Given the description of an element on the screen output the (x, y) to click on. 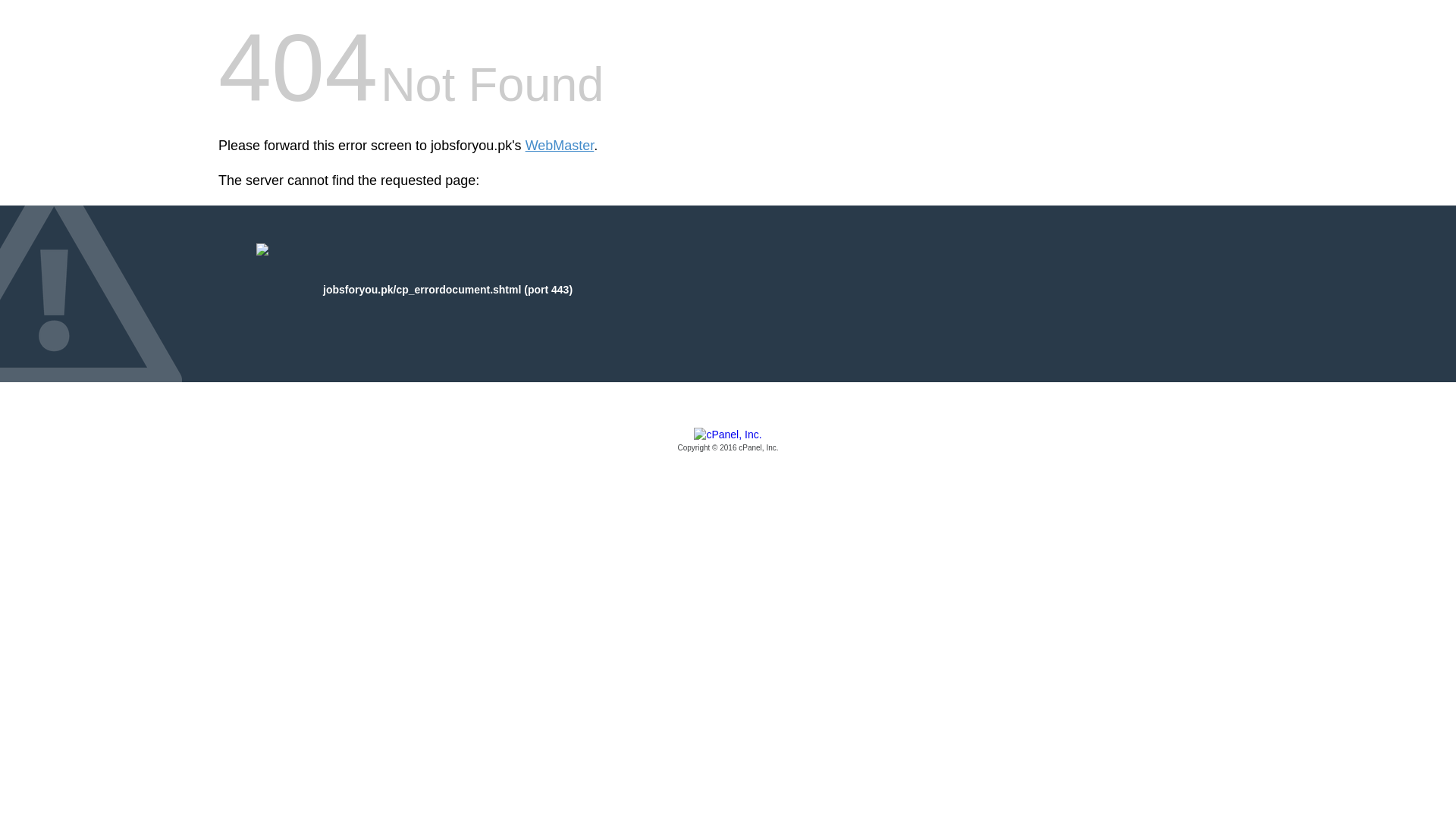
cPanel, Inc. (727, 440)
WebMaster (559, 145)
